Given the description of an element on the screen output the (x, y) to click on. 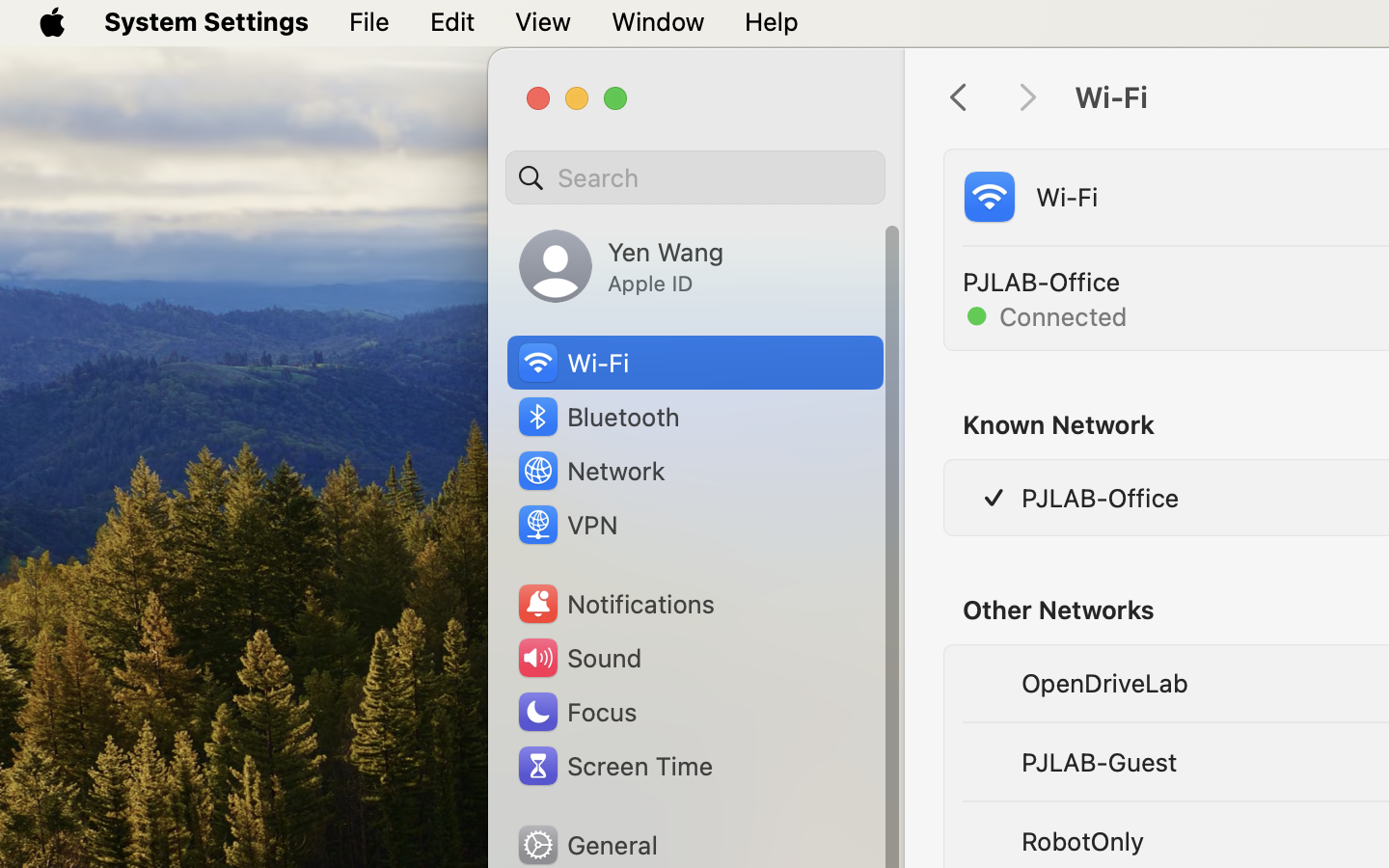
PJLAB-Guest Element type: AXStaticText (1098, 761)
Wi‑Fi Element type: AXStaticText (571, 362)
General Element type: AXStaticText (586, 844)
VPN Element type: AXStaticText (566, 524)
Connected Element type: AXStaticText (1046, 315)
